Given the description of an element on the screen output the (x, y) to click on. 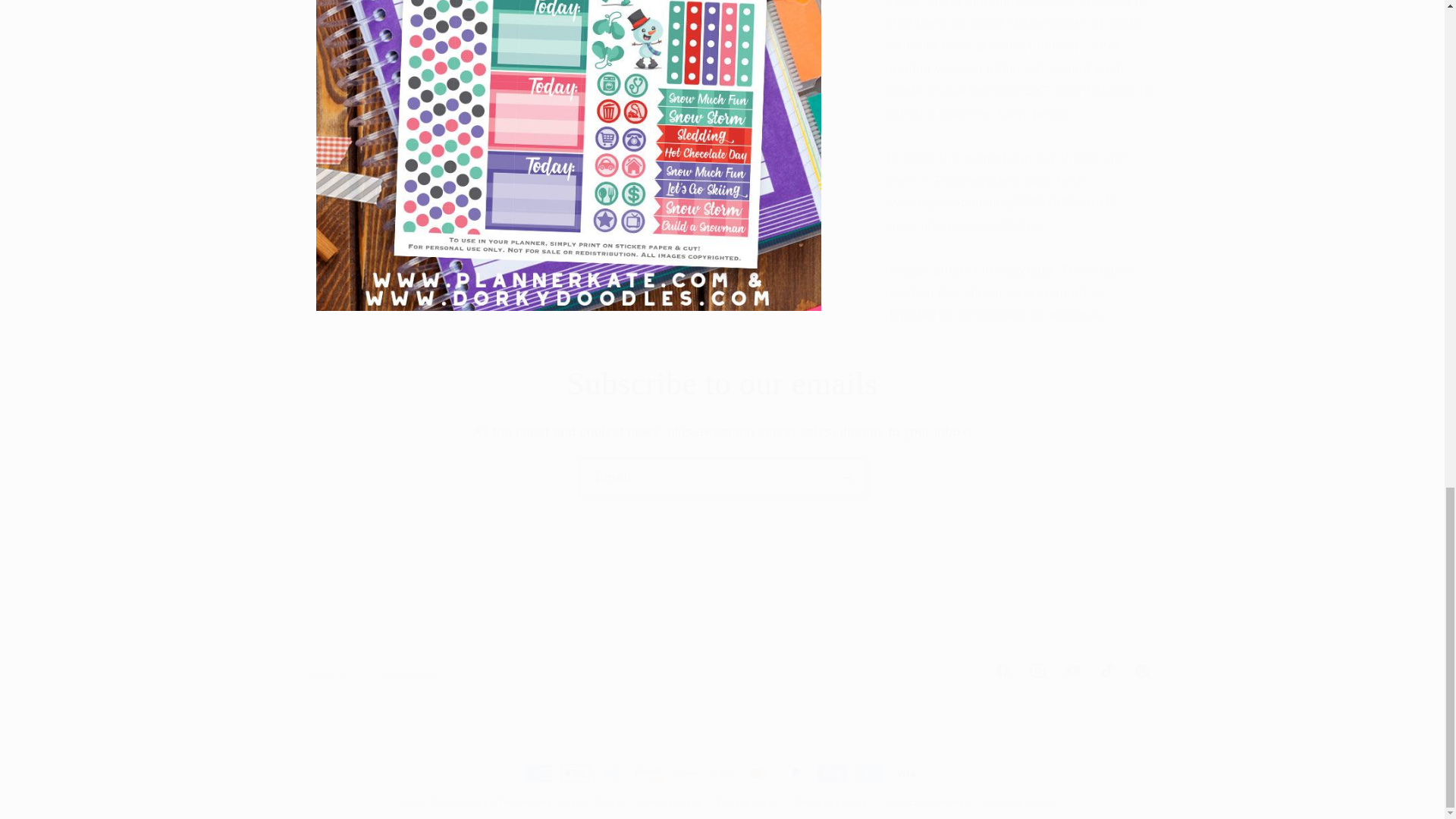
Subscribe to our emails (722, 383)
Email (721, 669)
